Given the description of an element on the screen output the (x, y) to click on. 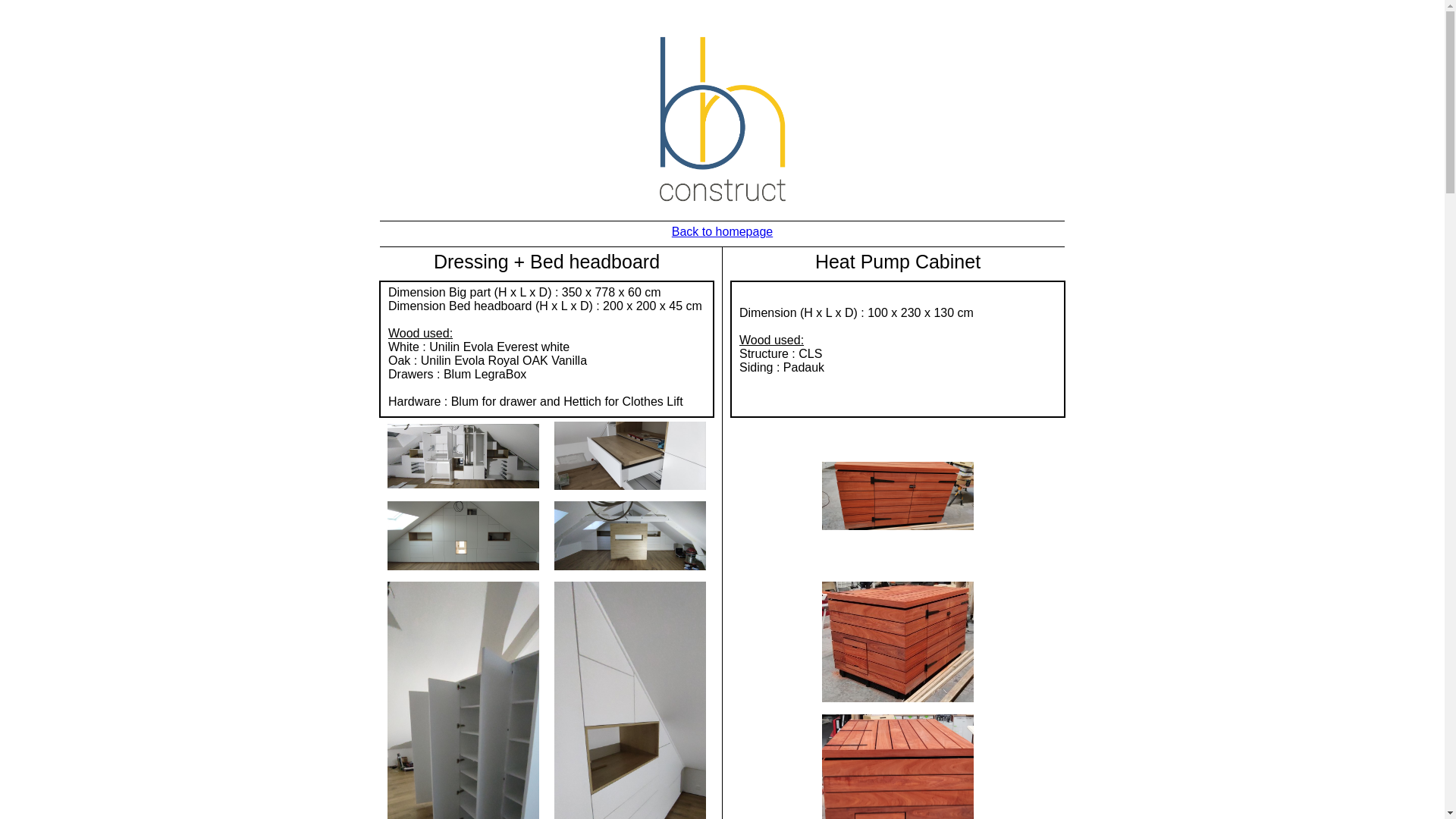
Back to homepage Element type: text (721, 231)
